Given the description of an element on the screen output the (x, y) to click on. 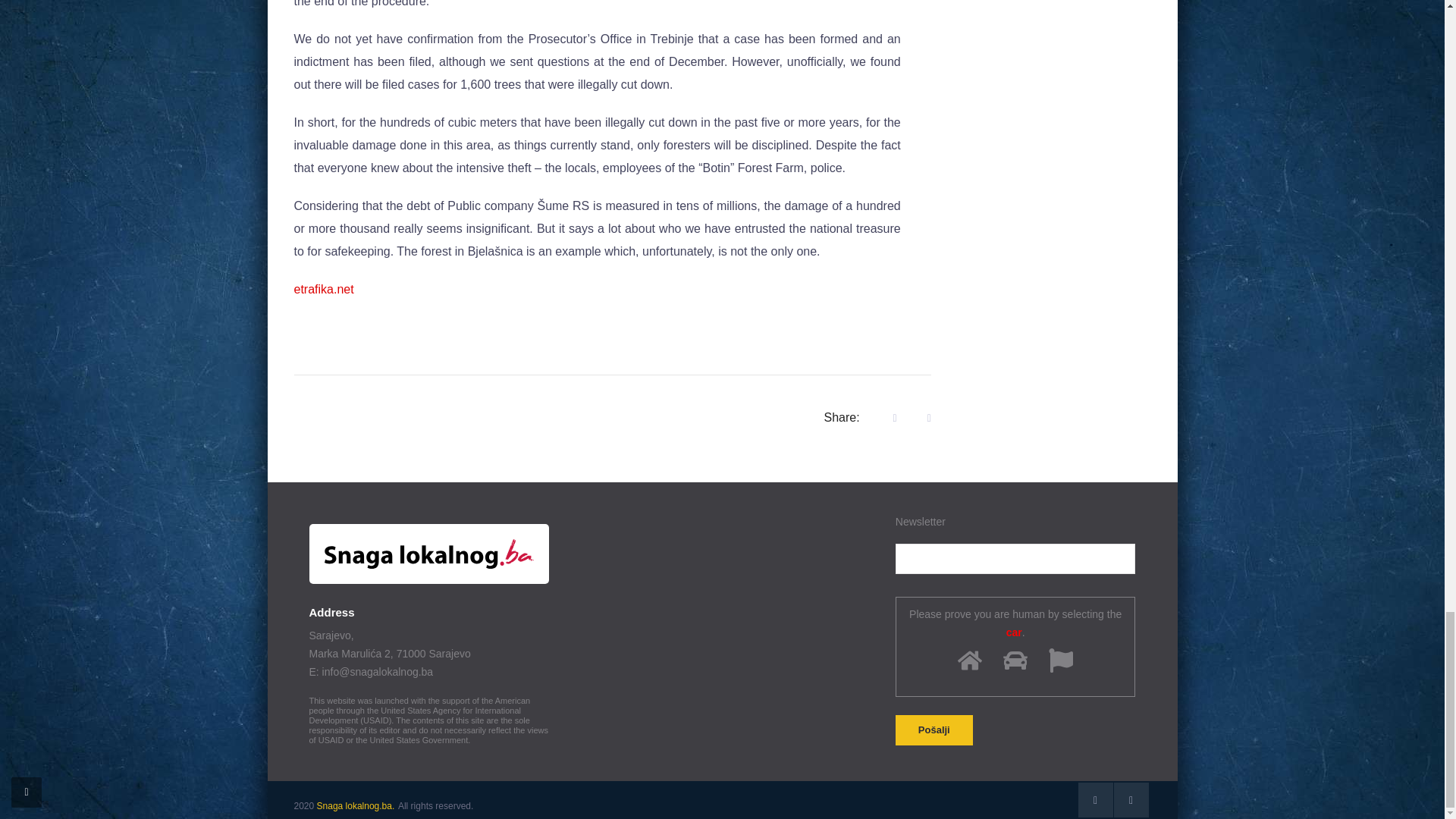
etrafika.net (323, 288)
